Given the description of an element on the screen output the (x, y) to click on. 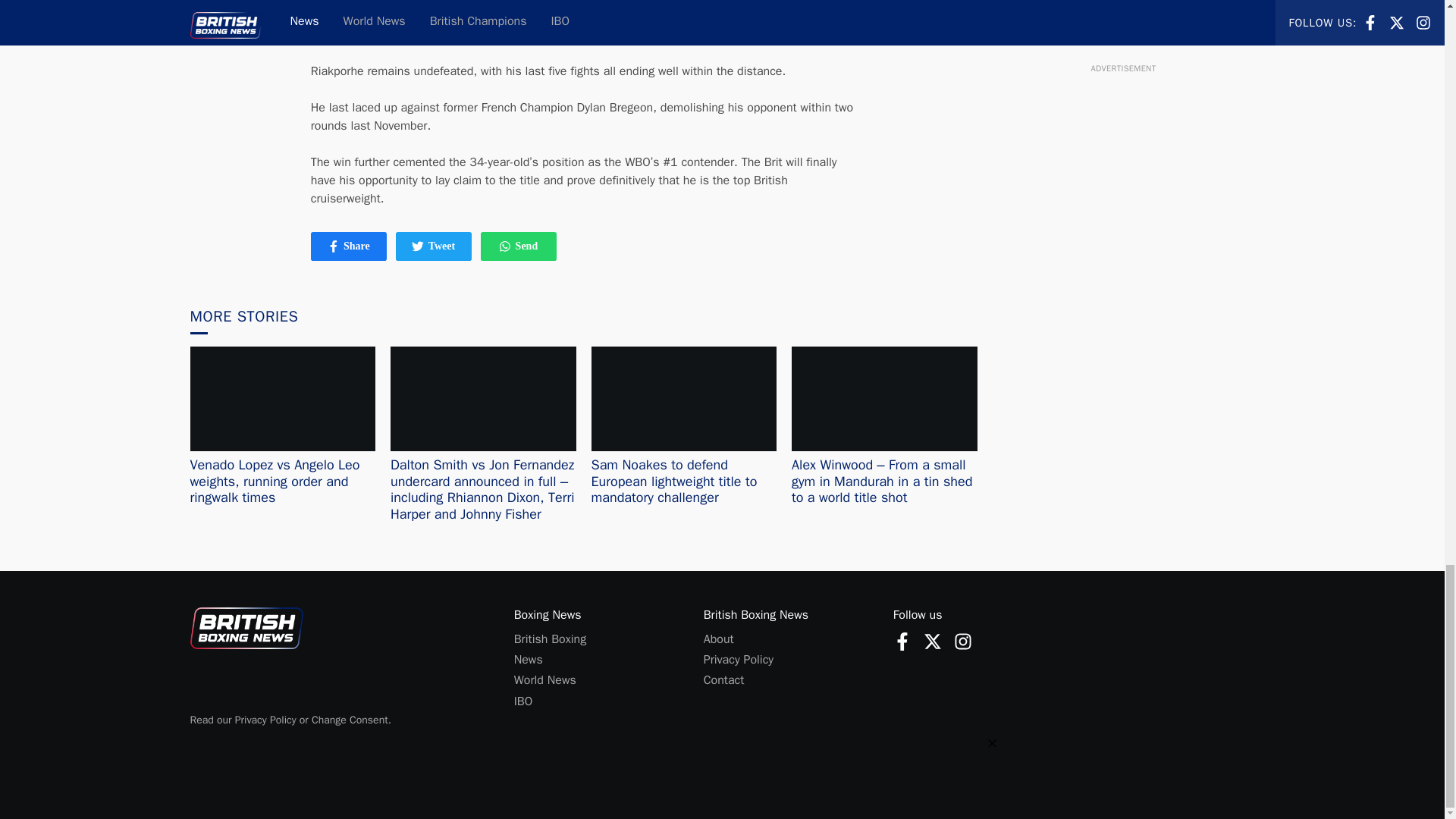
IBO (932, 640)
Facebook (522, 701)
Facebook (902, 641)
Instagram (333, 246)
WhatsApp (962, 641)
